Given the description of an element on the screen output the (x, y) to click on. 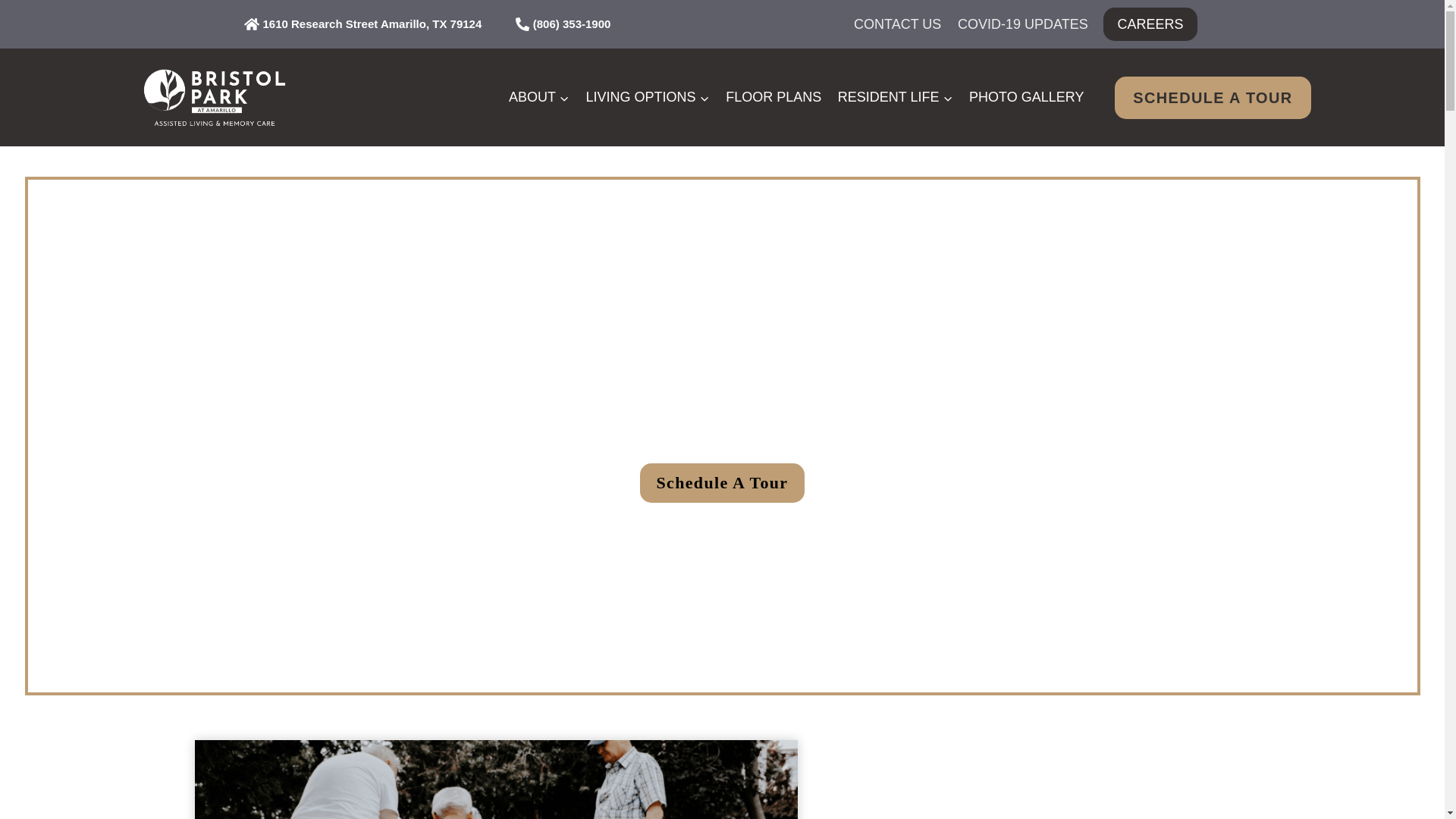
ABOUT (539, 96)
RESIDENT LIFE (894, 96)
CAREERS (1149, 23)
SCHEDULE A TOUR (1212, 96)
CONTACT US (897, 23)
PHOTO GALLERY (1026, 96)
start-living-your-best-life (494, 779)
FLOOR PLANS (773, 96)
LIVING OPTIONS (647, 96)
COVID-19 UPDATES (1022, 23)
Schedule A Tour (722, 483)
